Given the description of an element on the screen output the (x, y) to click on. 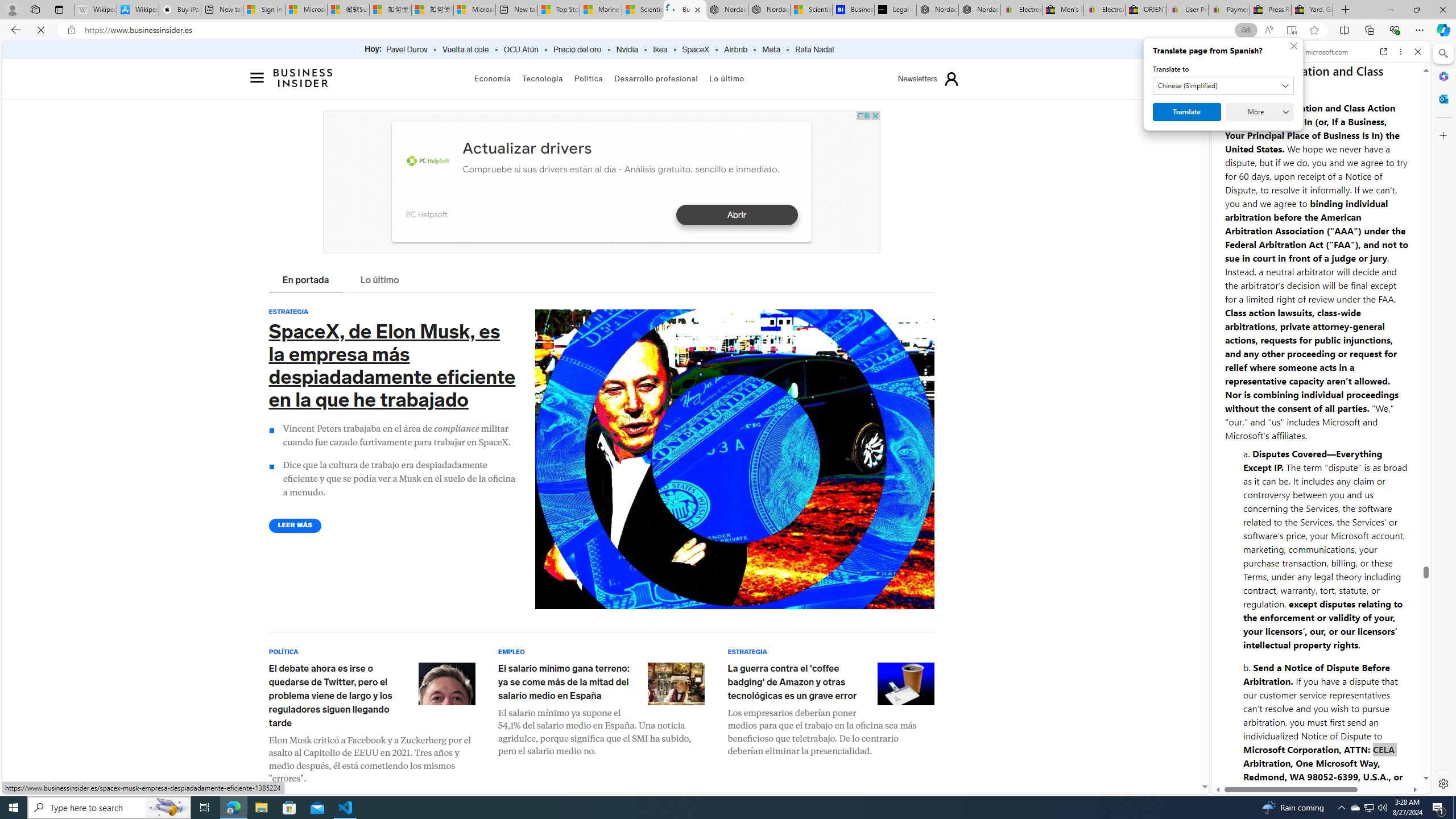
Meta (770, 49)
Open in New Tab (1321, 768)
Precio del oro (577, 49)
Elon Musk (446, 683)
Airbnb (734, 49)
Rafa Nadal (814, 49)
Buy iPad - Apple (179, 9)
Nvidia (626, 49)
Pavel Durov (406, 49)
